Given the description of an element on the screen output the (x, y) to click on. 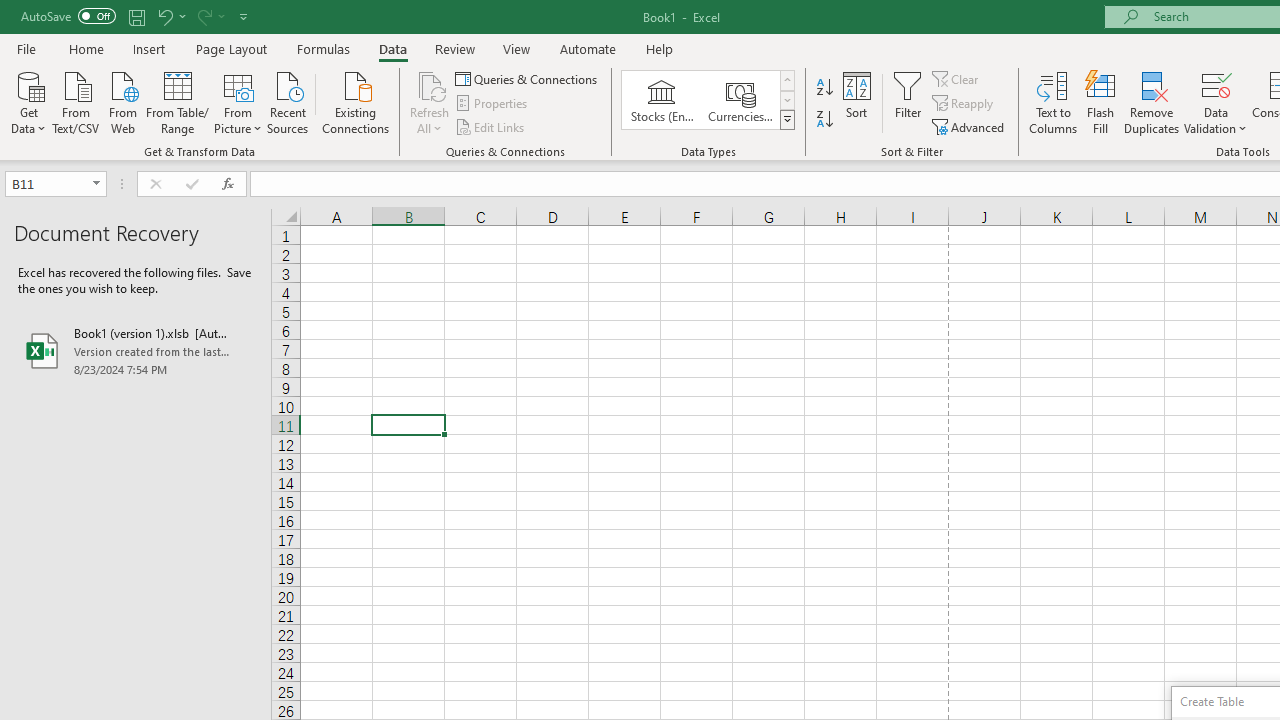
Name Box (56, 183)
Filter (908, 102)
Book1 (version 1).xlsb  [AutoRecovered] (136, 350)
Customize Quick Access Toolbar (244, 15)
View (517, 48)
Review (454, 48)
Undo (170, 15)
Redo (209, 15)
From Table/Range (177, 101)
Save (136, 15)
Data Validation... (1215, 102)
Redo (203, 15)
